Given the description of an element on the screen output the (x, y) to click on. 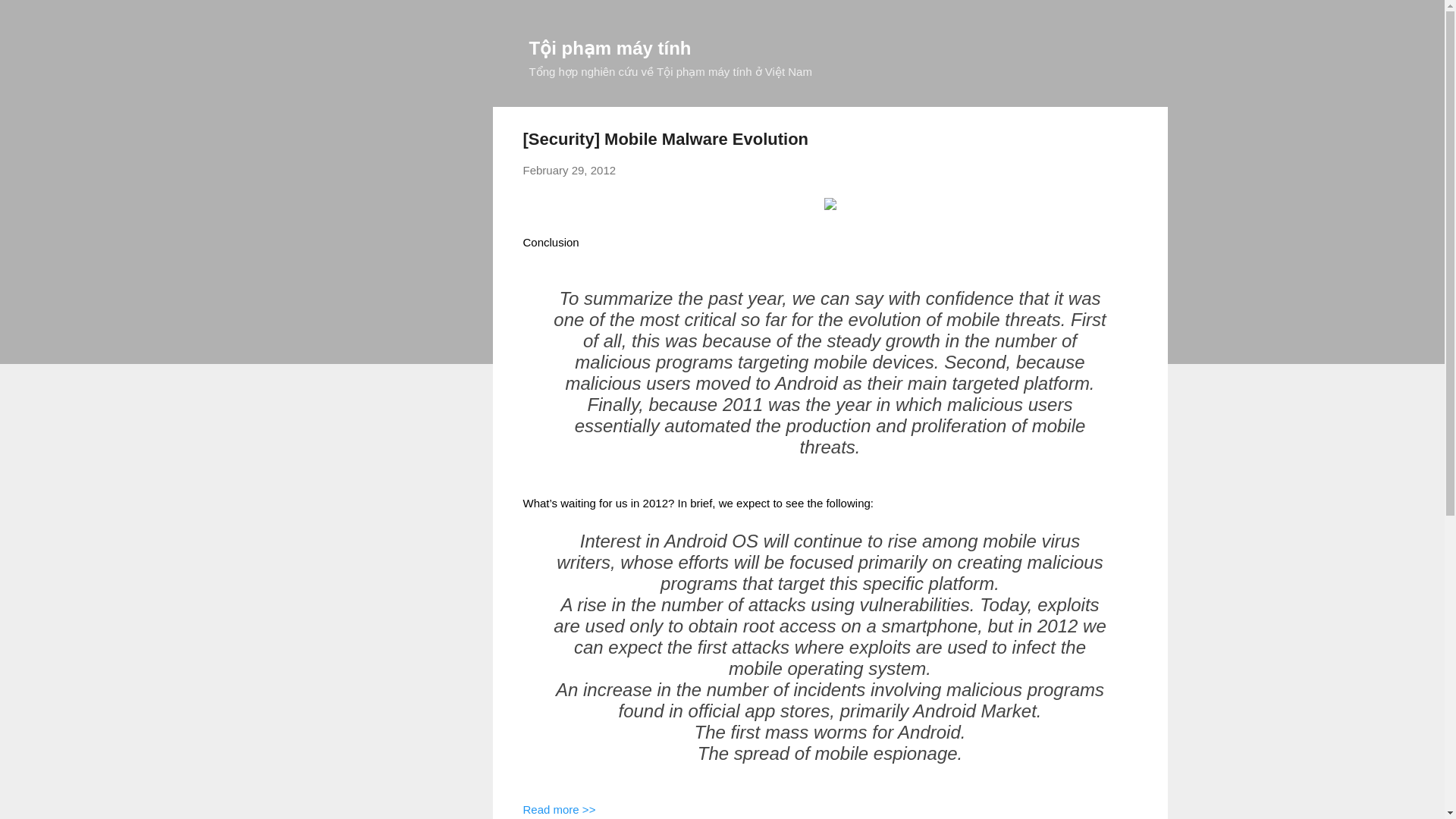
Search (29, 18)
permanent link (568, 169)
February 29, 2012 (568, 169)
